Given the description of an element on the screen output the (x, y) to click on. 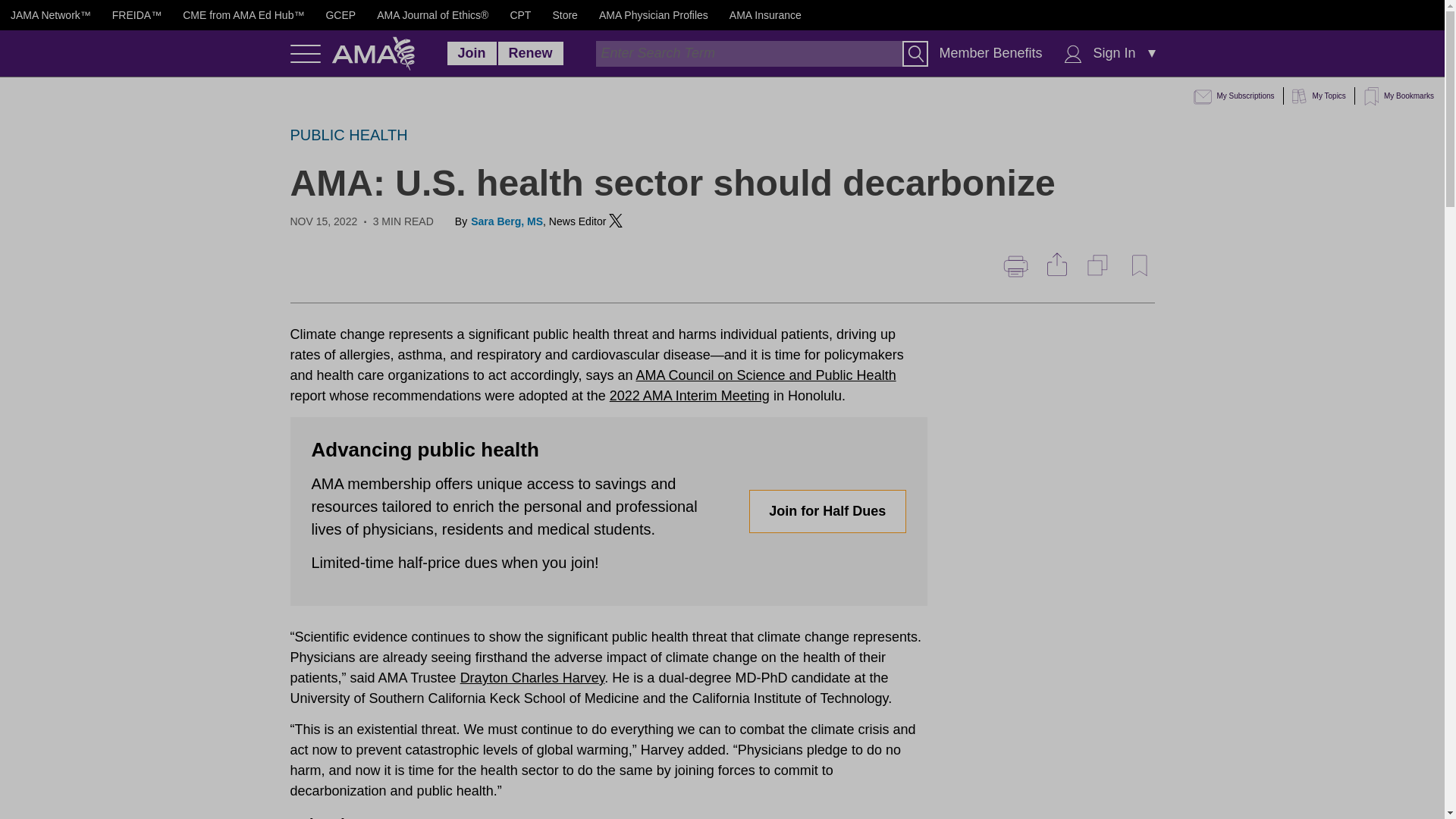
Bio link (506, 225)
GCEP (339, 15)
AMA Insurance (765, 15)
Sign In (1115, 53)
Copy (1098, 265)
Print Page (1015, 266)
Twitter link (615, 220)
CPT (520, 15)
Share (1053, 264)
